Given the description of an element on the screen output the (x, y) to click on. 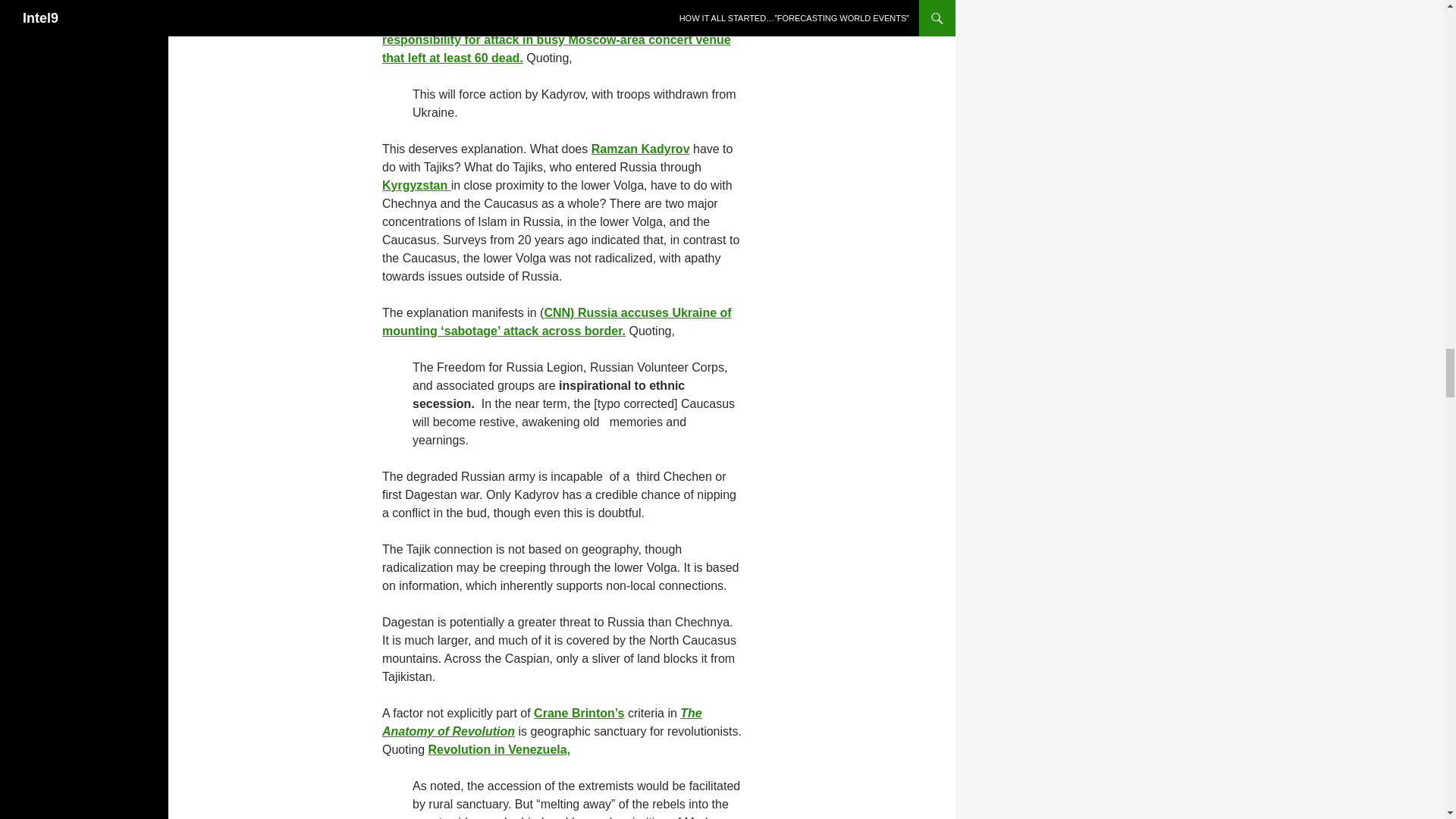
The Anatomy of Revolution (541, 721)
Kyrgyzstan (416, 185)
